Given the description of an element on the screen output the (x, y) to click on. 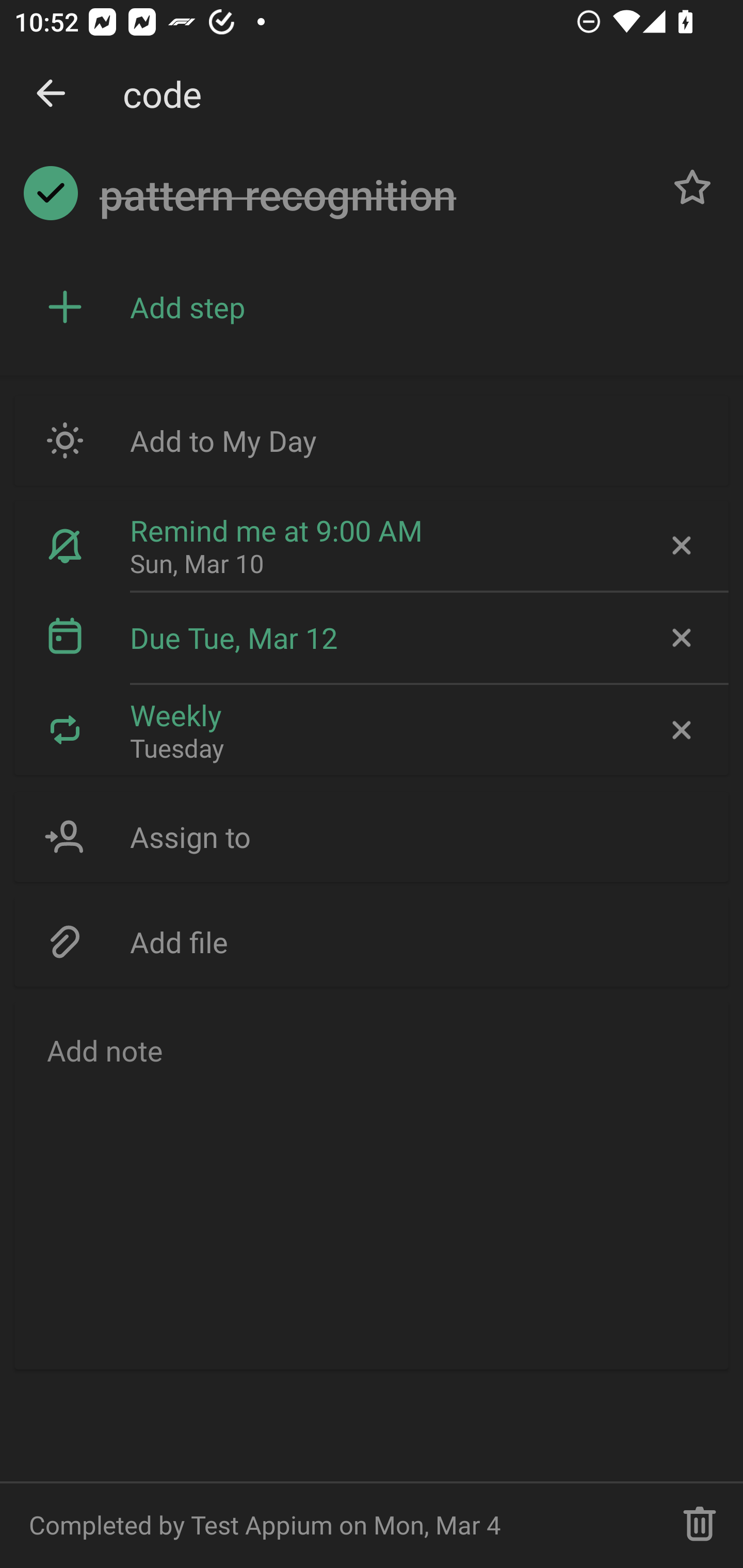
Dismiss detail view (50, 93)
Completed task pattern recognition, Button (50, 192)
pattern recognition (374, 195)
Normal task pattern recognition, Button (692, 187)
Add step (422, 307)
Add to My Day (371, 440)
Remind me at 9:00 AM Sun, Mar 10 Remove reminder (371, 545)
Remove reminder (679, 545)
Due Tue, Mar 12 Due Tue, Mar 12 Remove due date (371, 637)
Remove due date (679, 637)
Remove recurrence (679, 729)
Assign to (371, 836)
Add file (371, 941)
Add note, Button Email Renderer Add note (371, 1184)
Delete task (699, 1524)
